Given the description of an element on the screen output the (x, y) to click on. 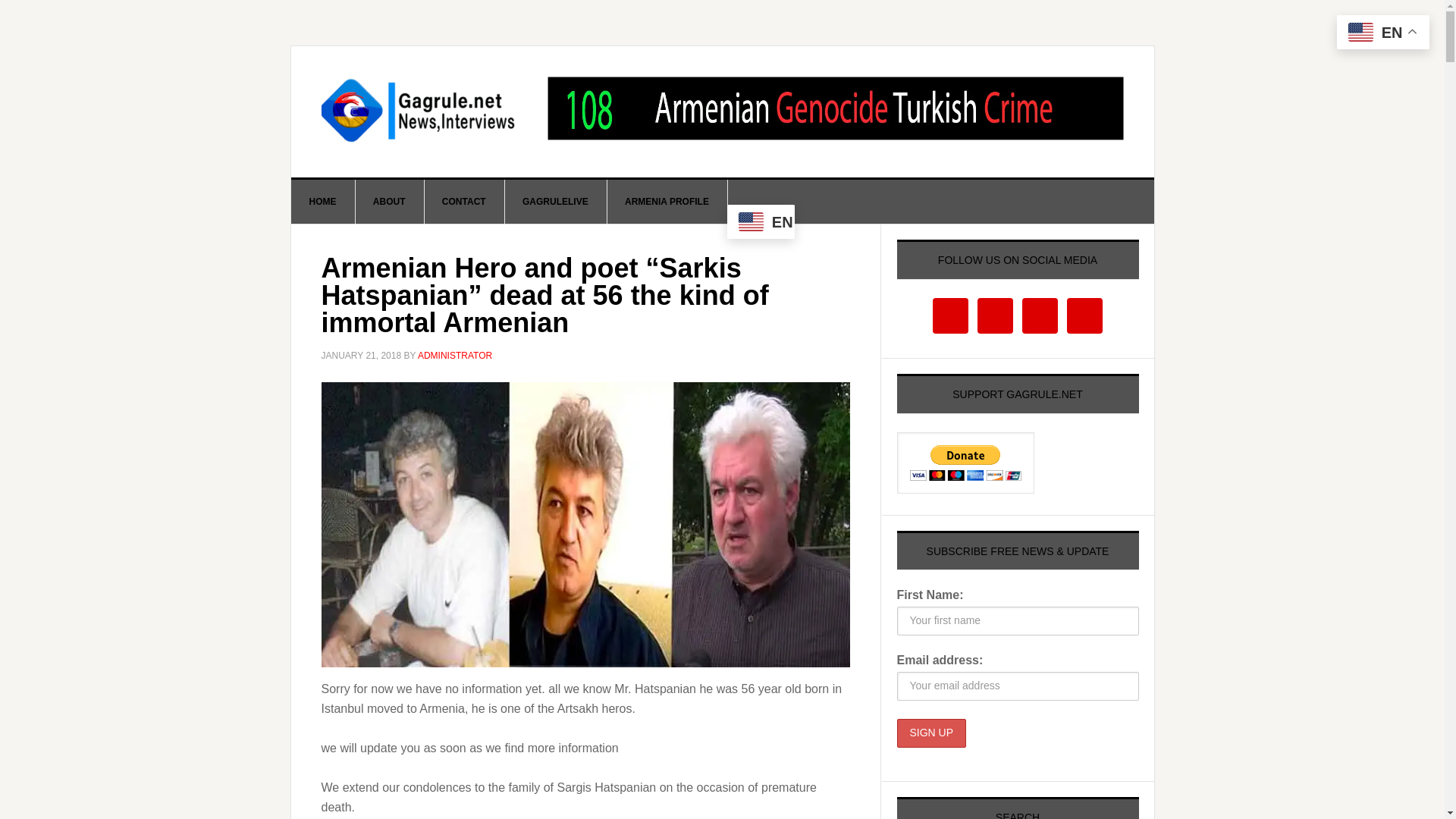
Contact (464, 201)
ABOUT (390, 201)
Sign up (931, 733)
GAGRULELIVE (555, 201)
ADMINISTRATOR (454, 355)
CONTACT (464, 201)
About (390, 201)
ARMENIA PROFILE (667, 201)
HOME (323, 201)
GAGRULE.NET (419, 110)
